Given the description of an element on the screen output the (x, y) to click on. 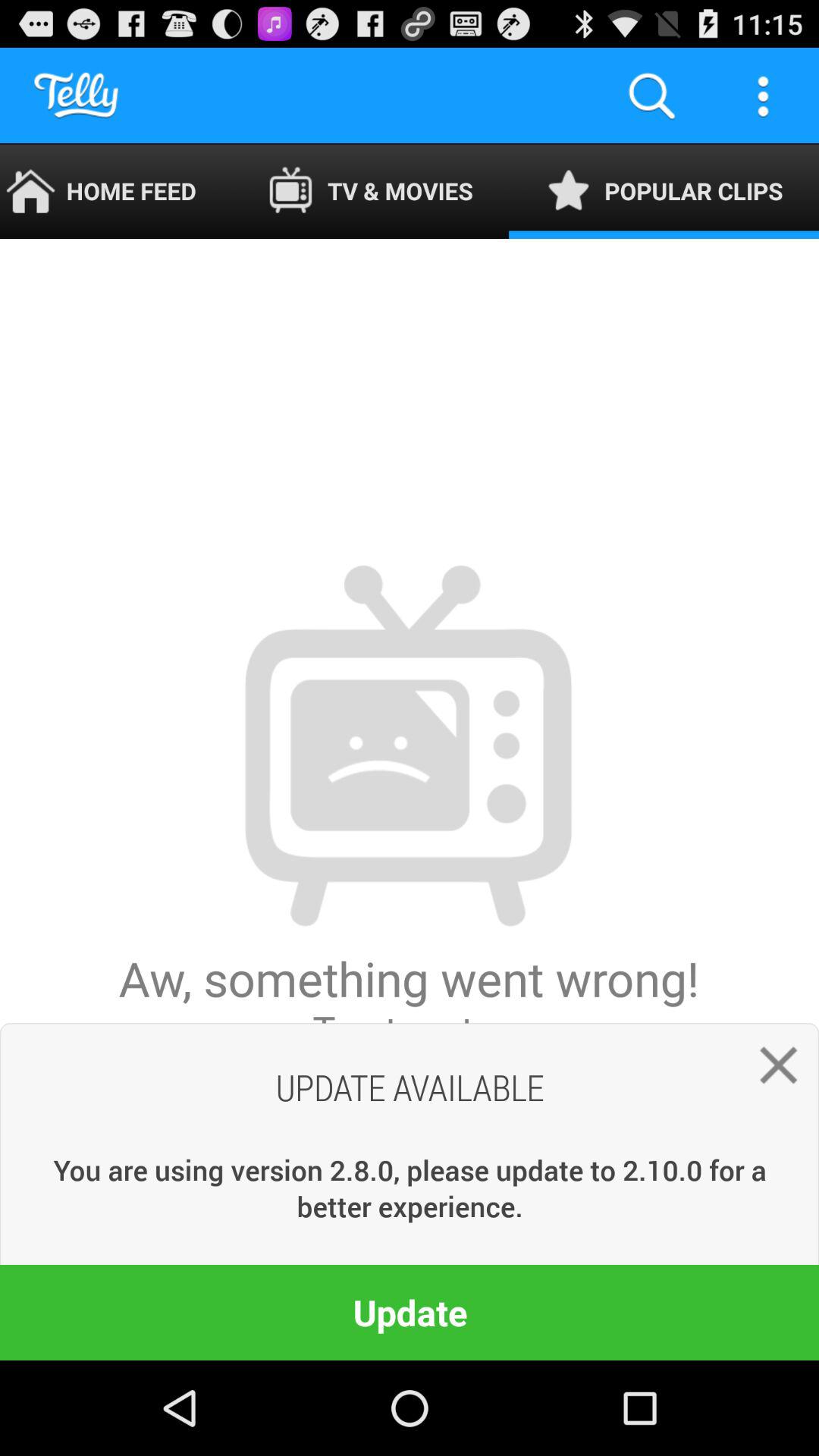
click the app next to the home feed icon (370, 190)
